Given the description of an element on the screen output the (x, y) to click on. 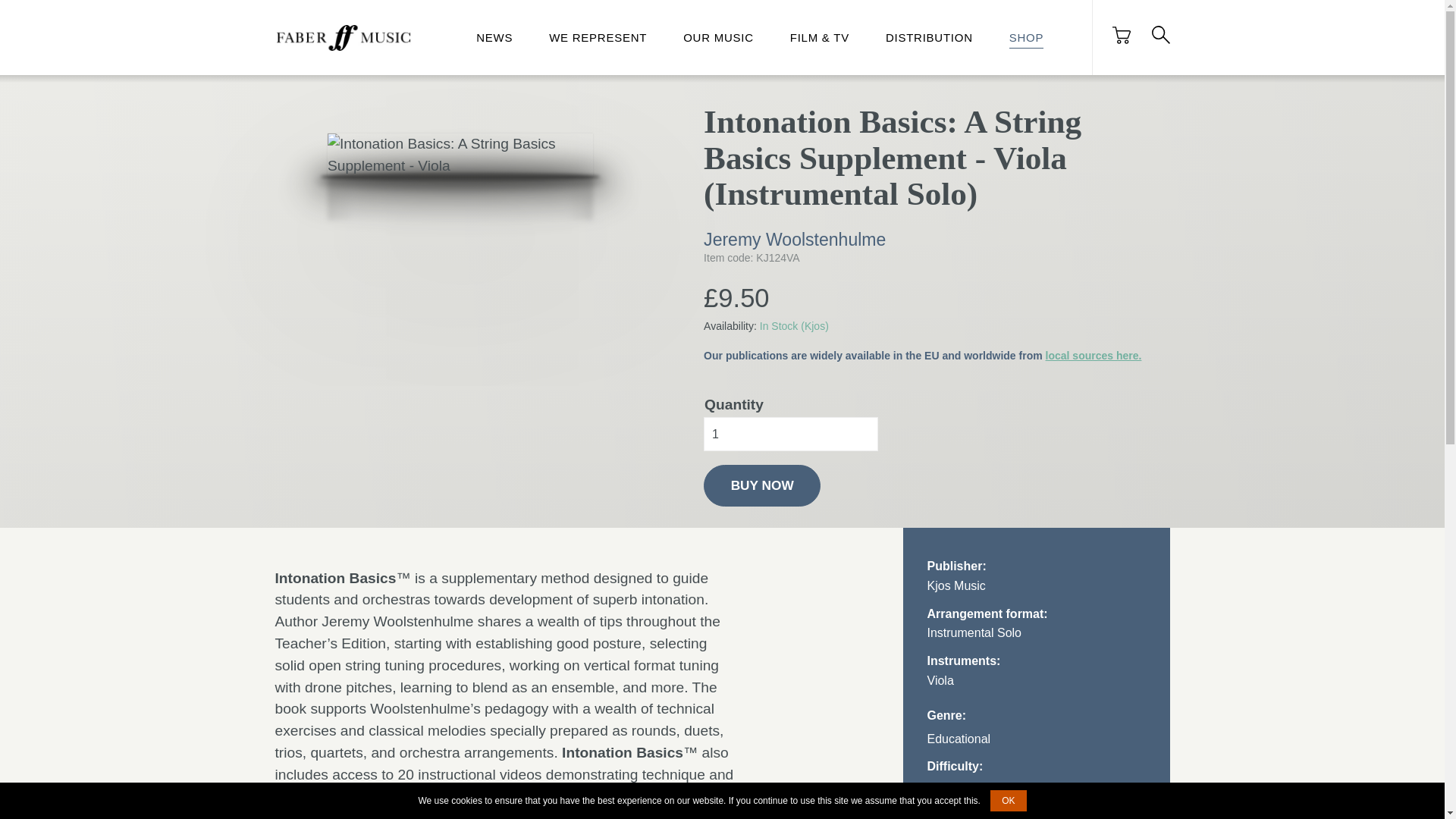
Search (1160, 34)
BUY NOW (762, 485)
local sources here. (1093, 355)
Quantity (733, 404)
WE REPRESENT (597, 38)
1 (790, 433)
DISTRIBUTION (928, 38)
SHOP (1026, 38)
NEWS (494, 38)
OUR MUSIC (718, 38)
Your Basket (1121, 34)
